Given the description of an element on the screen output the (x, y) to click on. 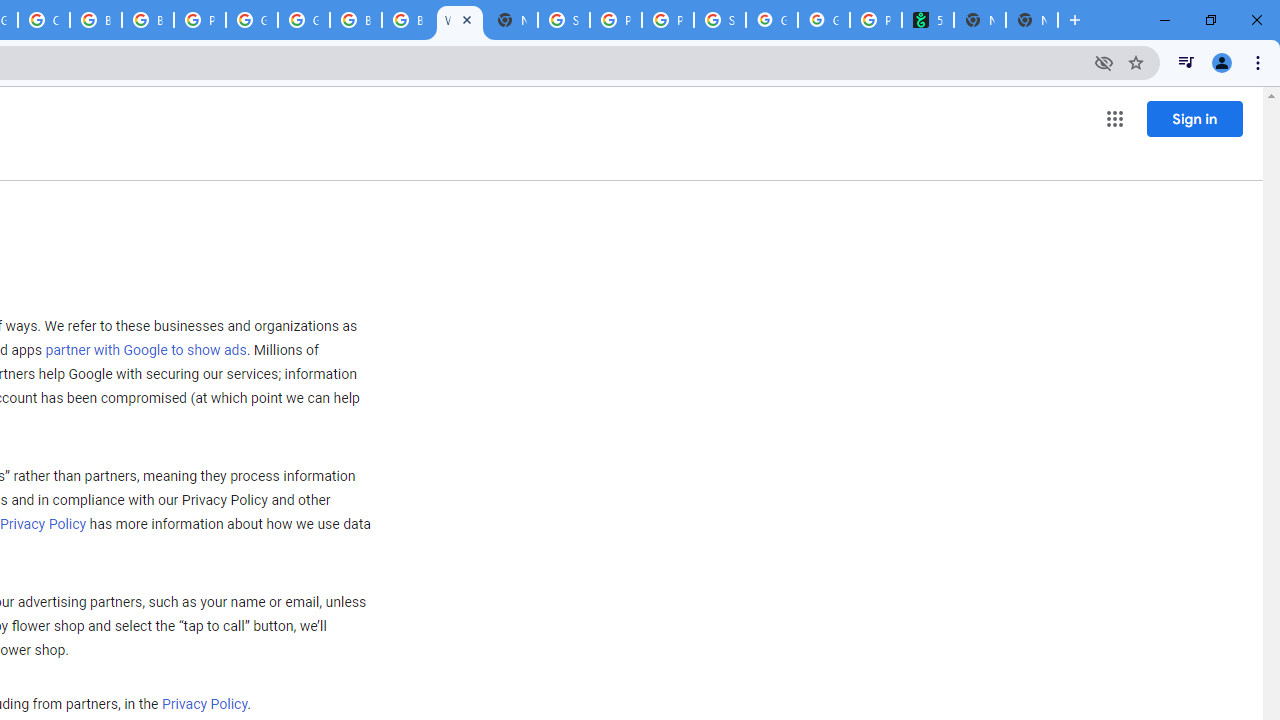
Google Cloud Platform (251, 20)
Privacy Policy (204, 705)
Sign in (1194, 118)
New Tab (1032, 20)
Browse Chrome as a guest - Computer - Google Chrome Help (95, 20)
New Tab (511, 20)
Browse Chrome as a guest - Computer - Google Chrome Help (147, 20)
